Given the description of an element on the screen output the (x, y) to click on. 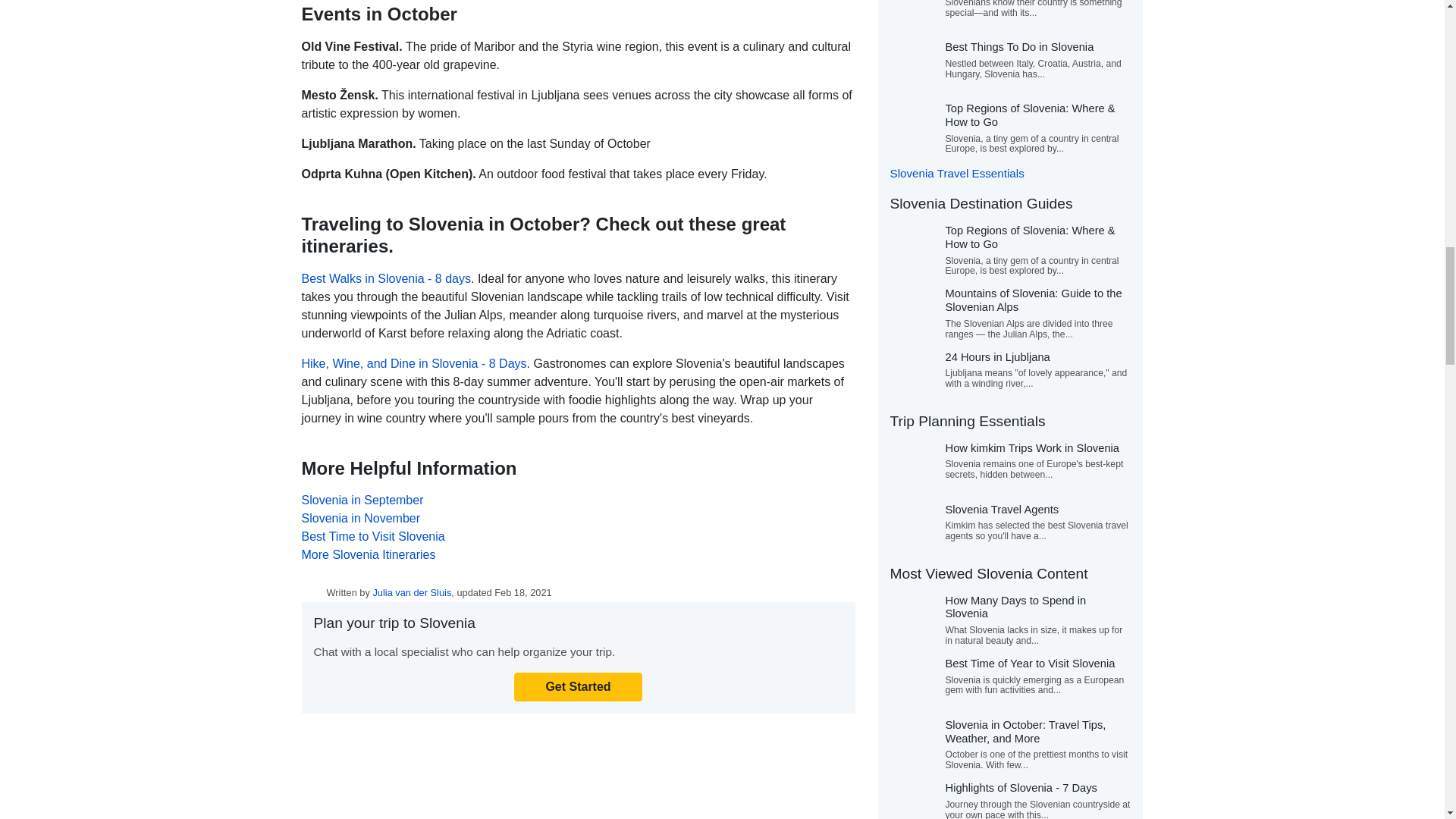
Best Things To Do in Slovenia (1018, 46)
